Given the description of an element on the screen output the (x, y) to click on. 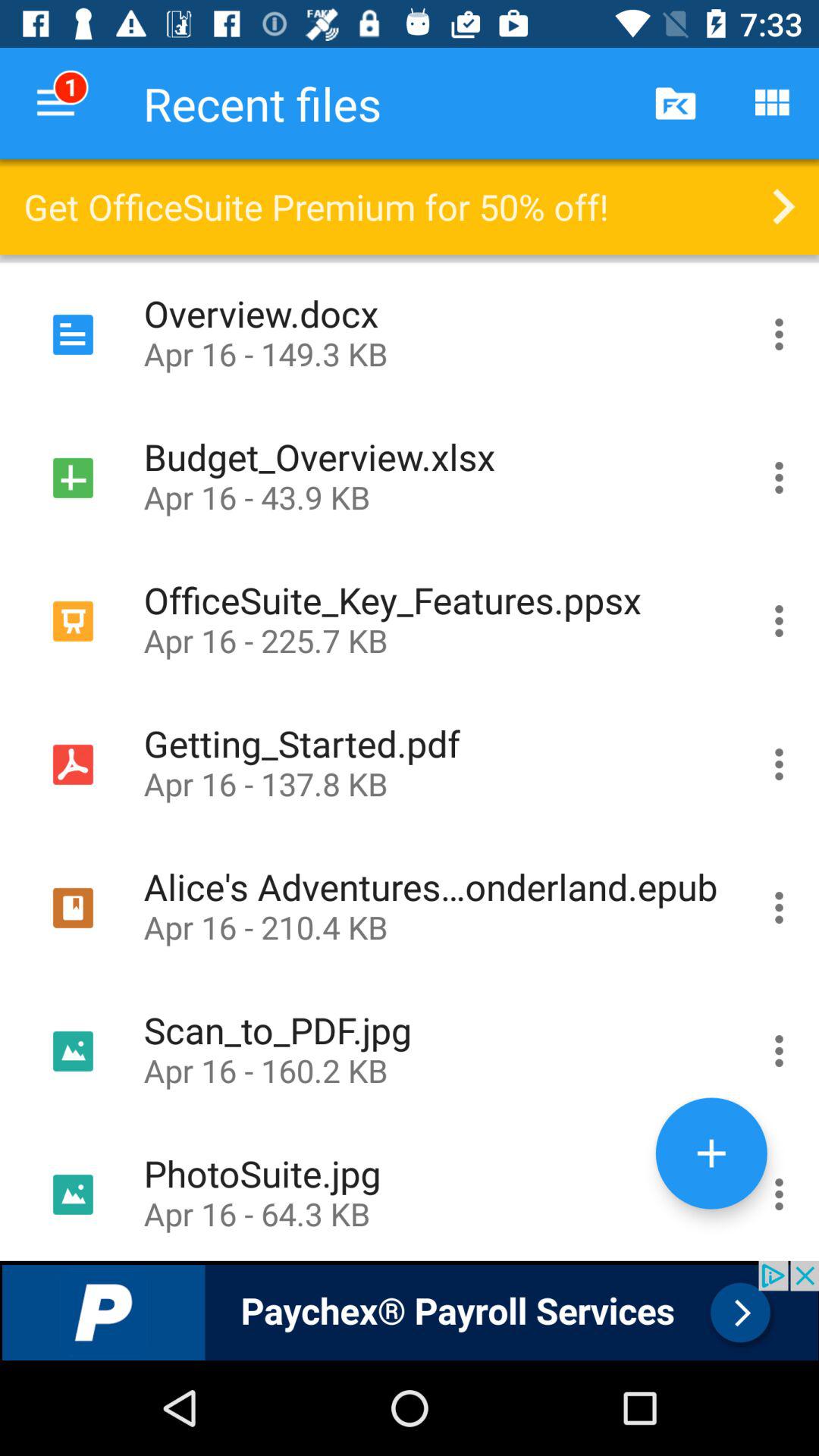
view file (779, 1191)
